Given the description of an element on the screen output the (x, y) to click on. 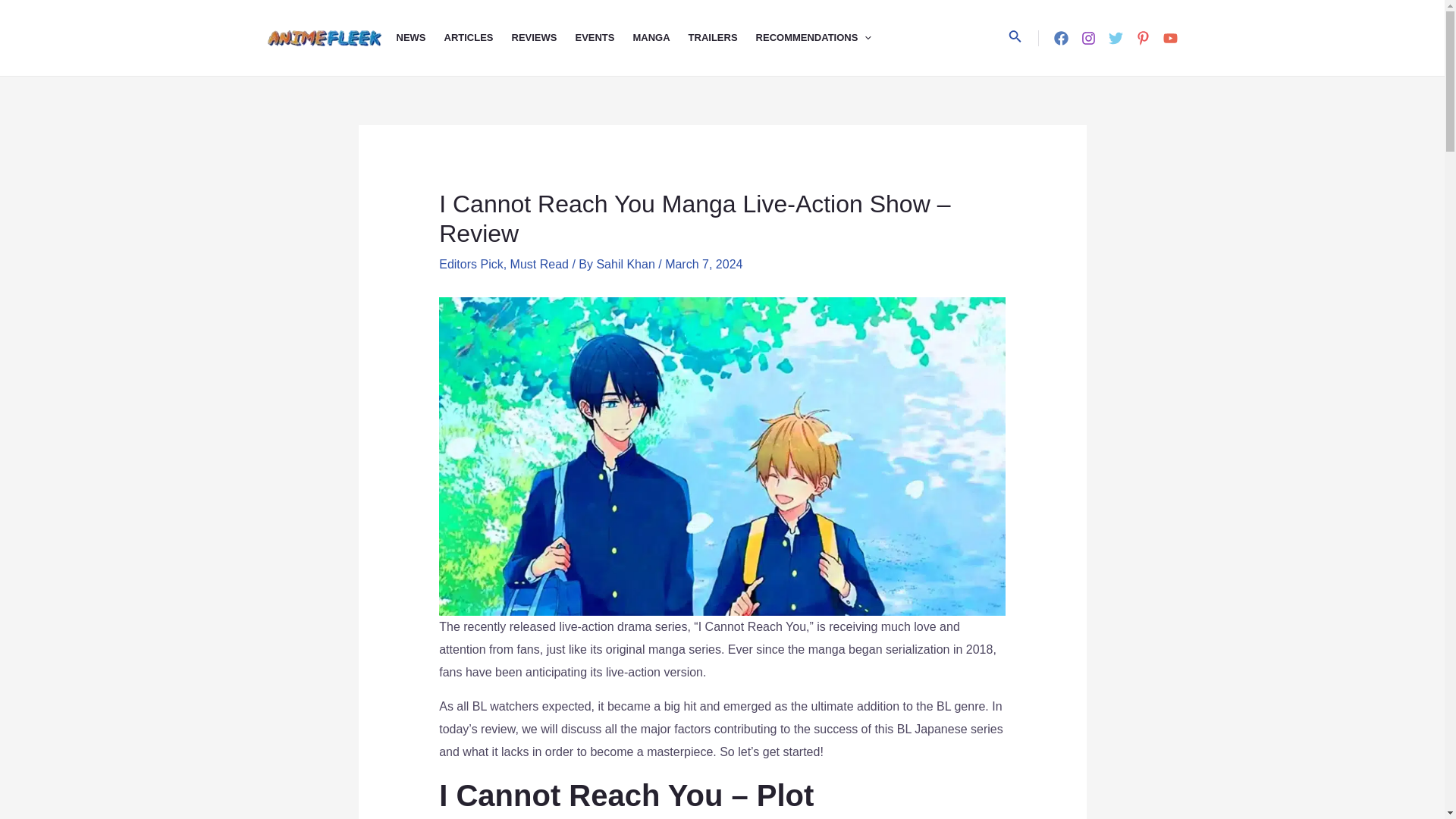
View all posts by Sahil Khan (626, 264)
ARTICLES (478, 38)
Sahil Khan (626, 264)
Editors Pick (470, 264)
Must Read (540, 264)
TRAILERS (721, 38)
RECOMMENDATIONS (822, 38)
